Given the description of an element on the screen output the (x, y) to click on. 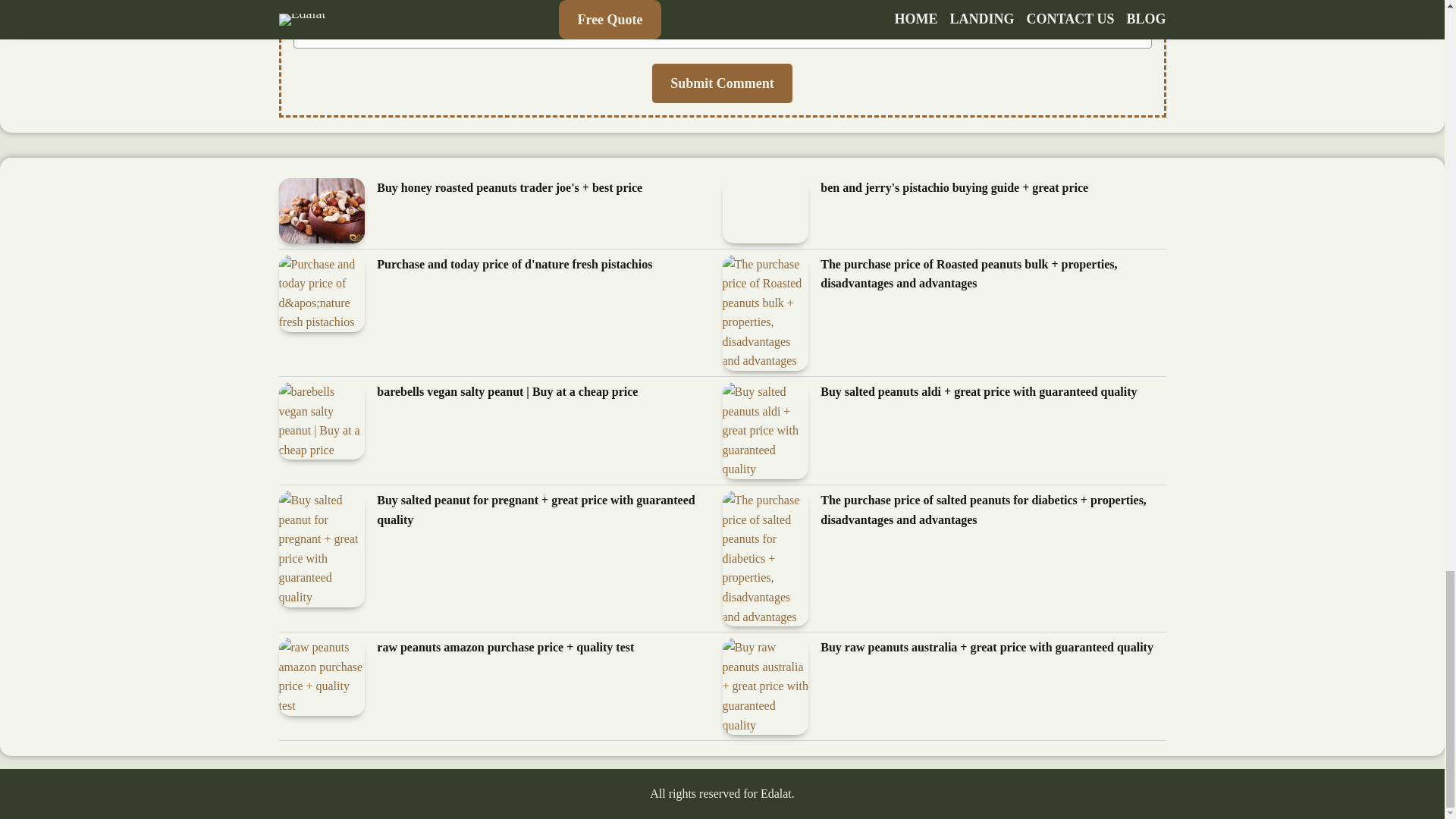
Submit Comment (722, 83)
Submit Comment (722, 83)
Purchase and today price of d'nature fresh pistachios (514, 264)
